Given the description of an element on the screen output the (x, y) to click on. 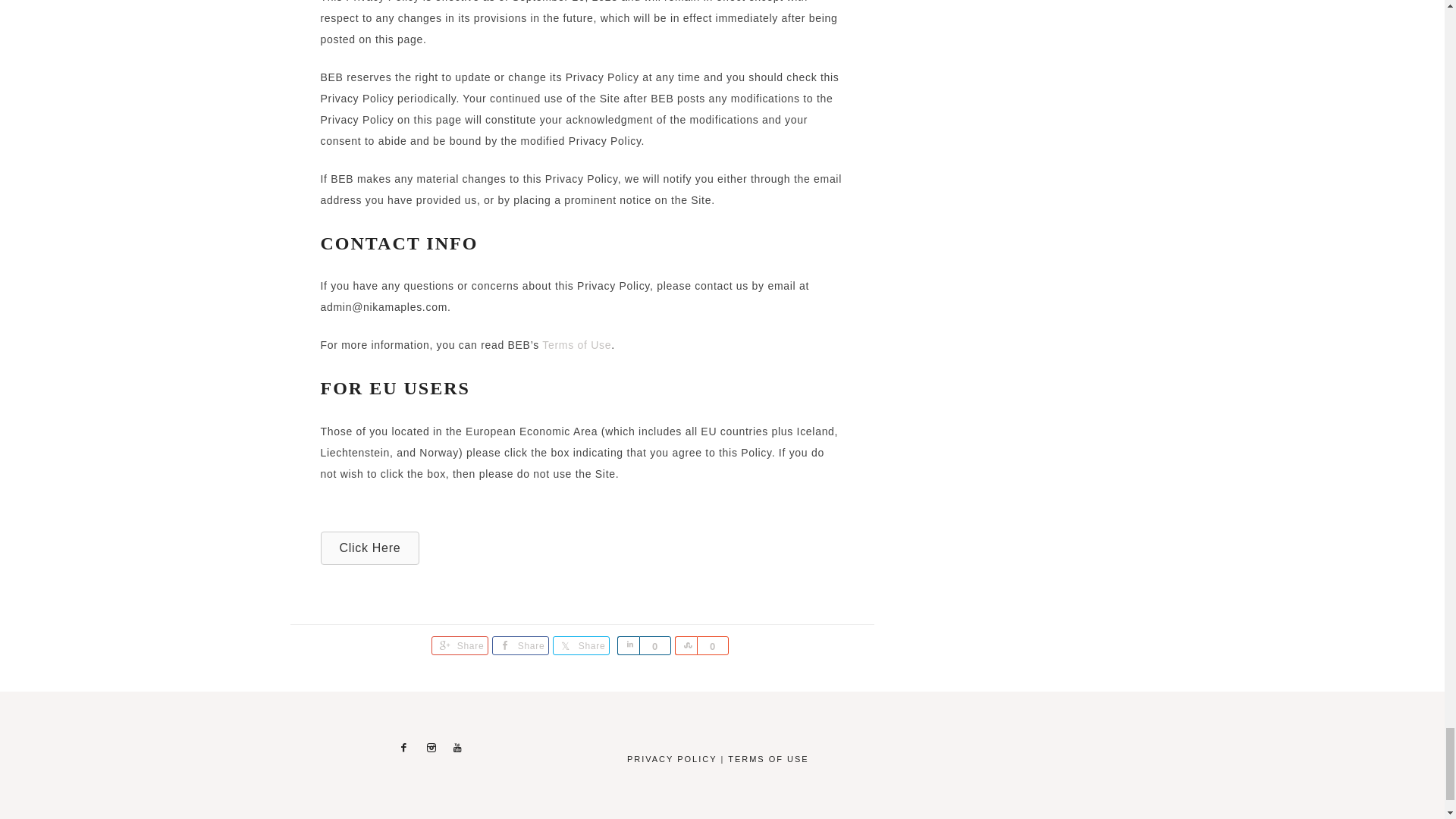
Facebook (403, 747)
PRIVACY POLICY (671, 757)
TERMS OF USE (768, 757)
Share (628, 645)
Share (520, 645)
Share (686, 645)
Bloglovin (457, 747)
Terms of Use (576, 345)
Instagram (431, 747)
Share (458, 645)
